Given the description of an element on the screen output the (x, y) to click on. 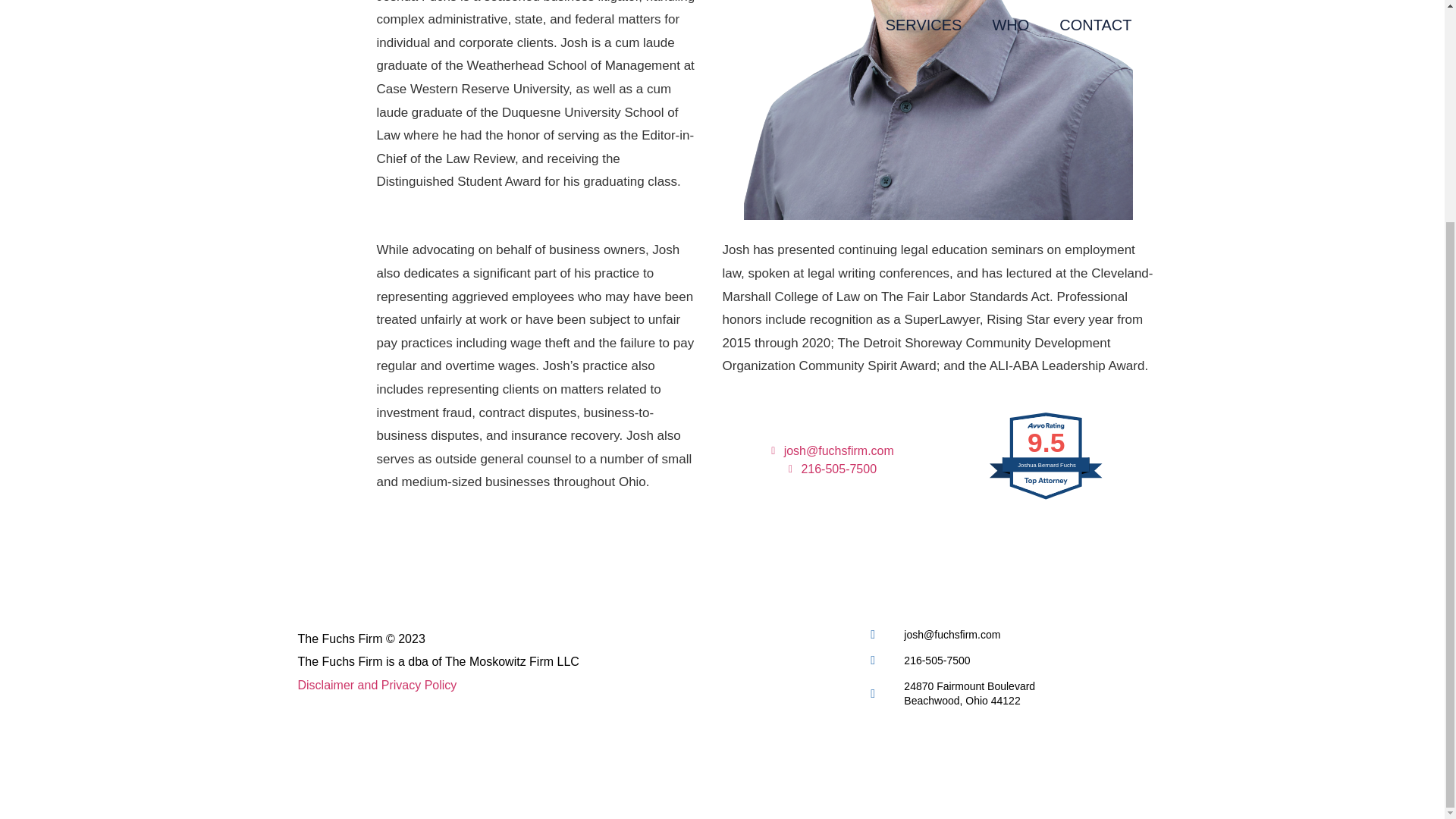
216-505-7500 (829, 469)
Disclaimer and Privacy Policy (1006, 692)
216-505-7500 (377, 684)
